Given the description of an element on the screen output the (x, y) to click on. 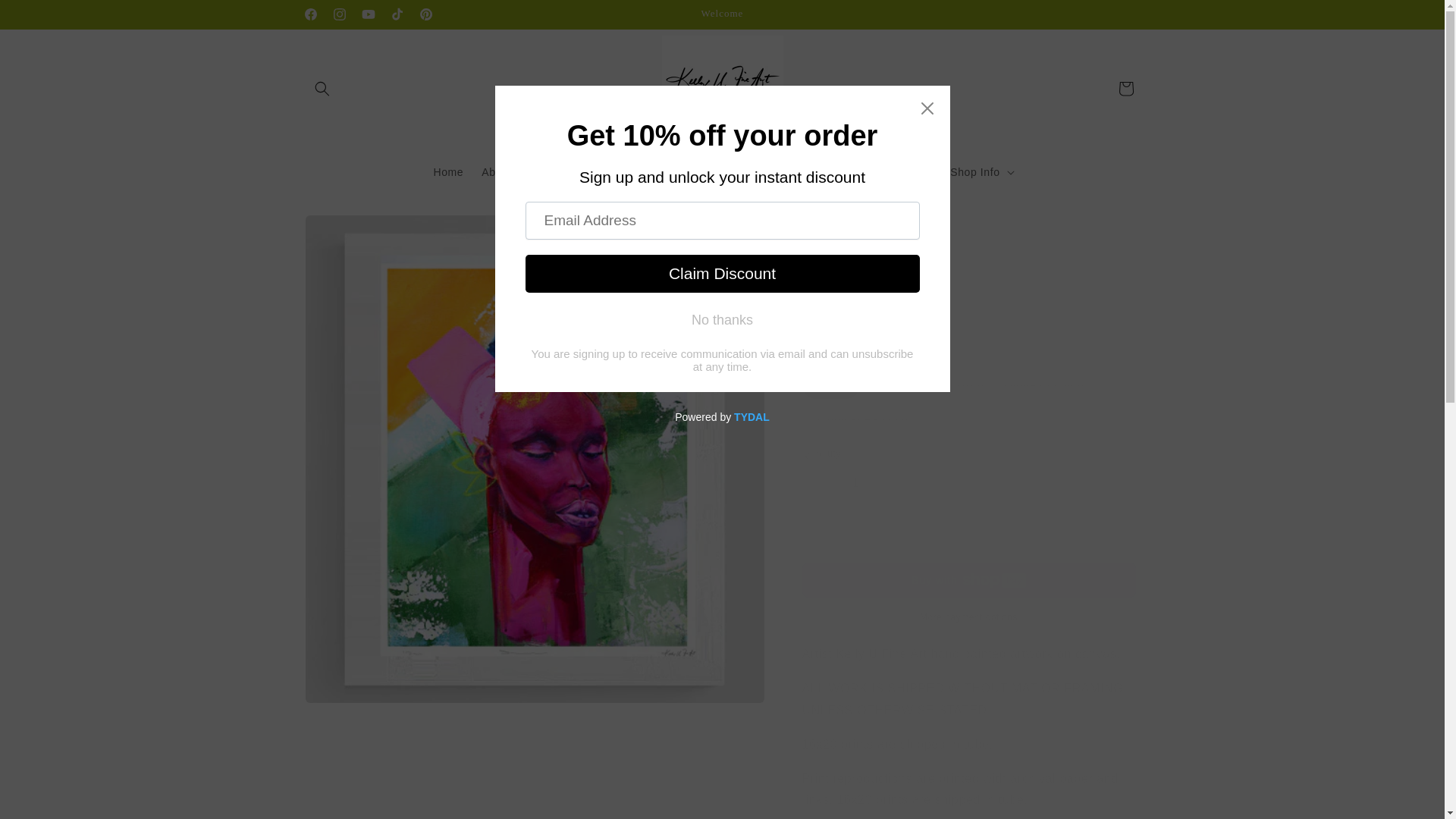
TikTok (395, 14)
Pinterest (424, 14)
1 (856, 482)
Commissions (675, 172)
YouTube (367, 14)
Facebook (309, 14)
About The Artist (522, 172)
Instagram (338, 14)
Home (447, 172)
Skip to content (45, 17)
Contact (601, 172)
